Given the description of an element on the screen output the (x, y) to click on. 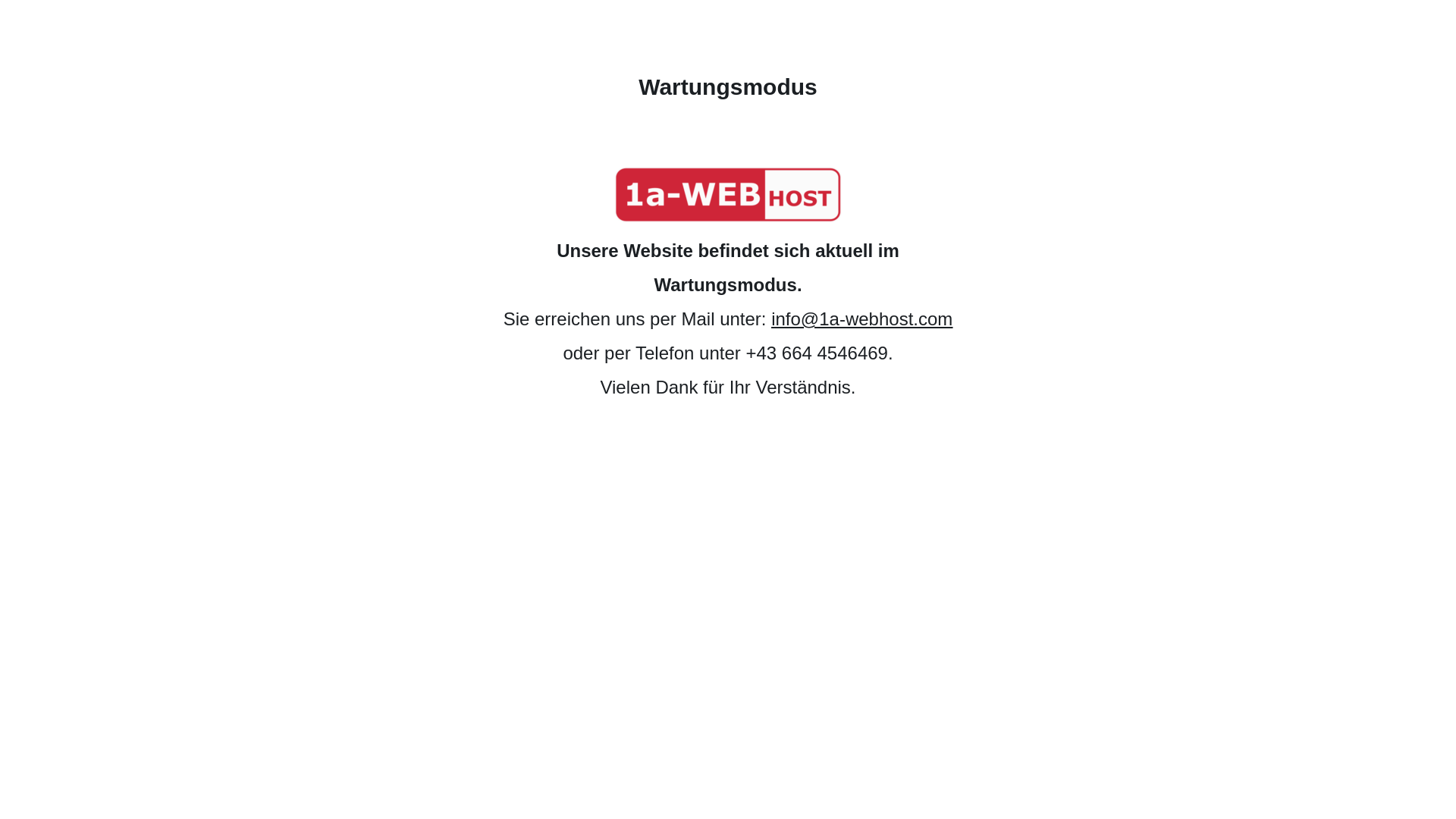
info@1a-webhost.com Element type: text (861, 318)
